Given the description of an element on the screen output the (x, y) to click on. 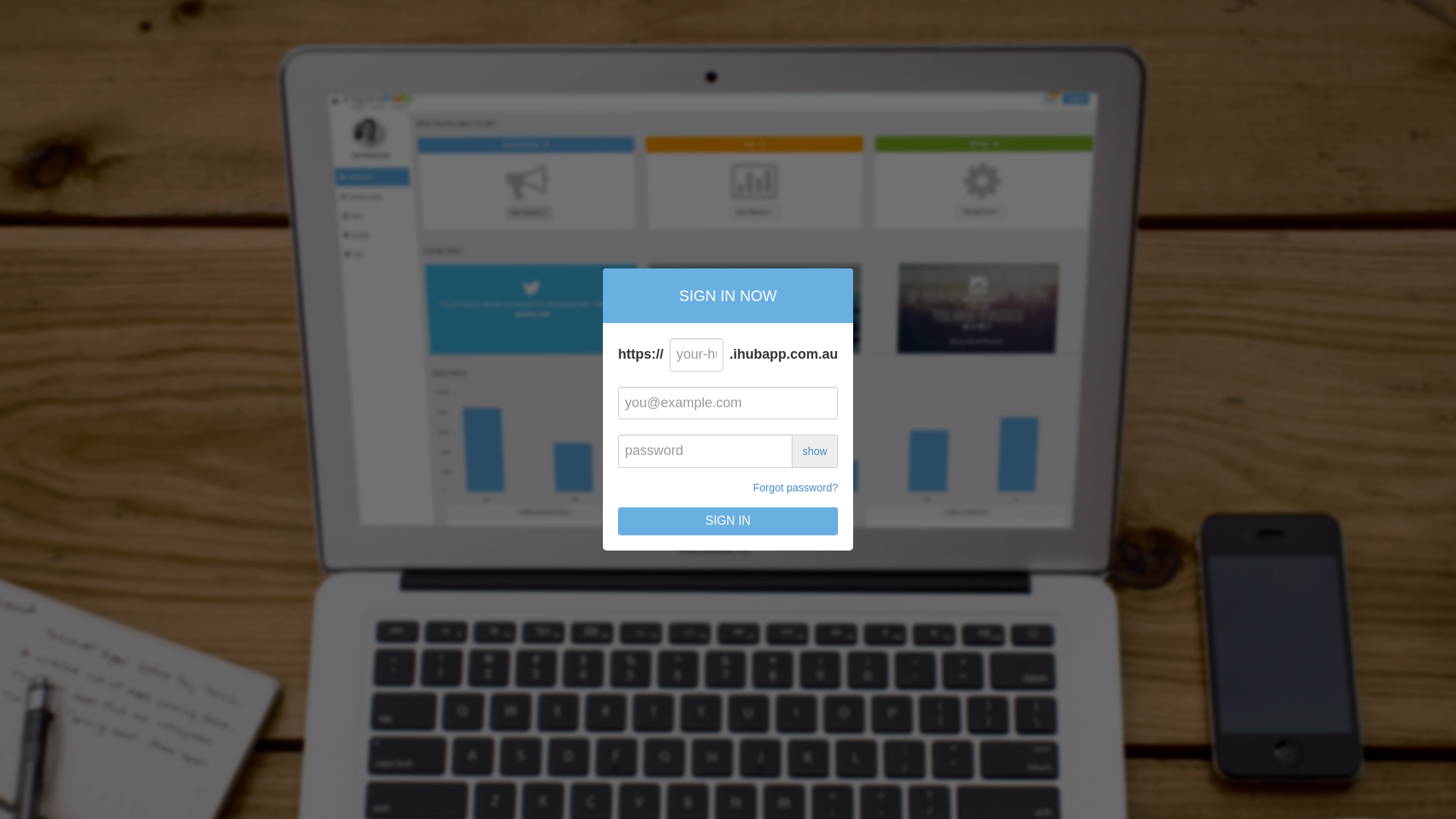
Forgot password? Element type: text (795, 487)
show Element type: text (814, 451)
SIGN IN Element type: text (727, 521)
